Given the description of an element on the screen output the (x, y) to click on. 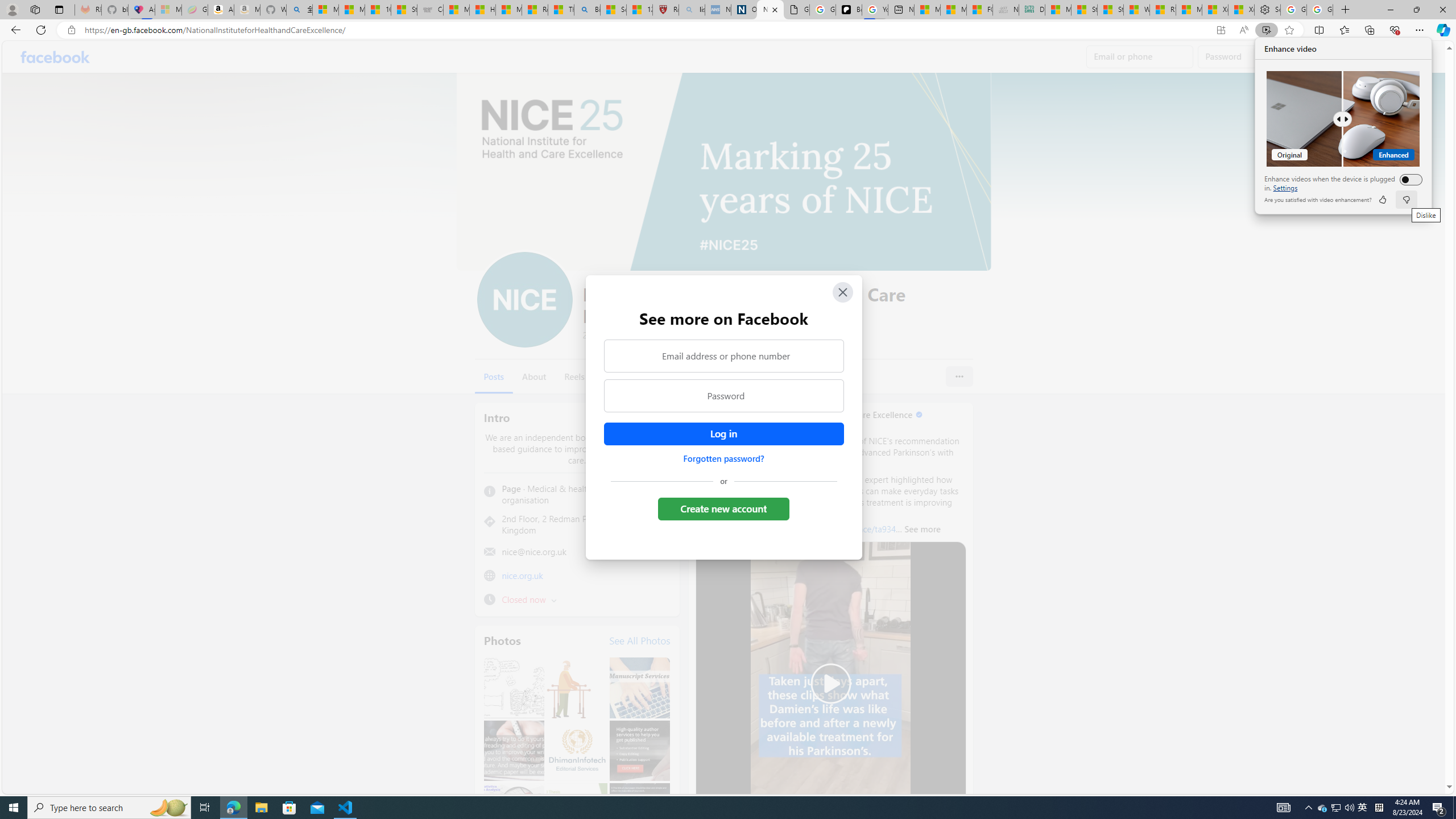
R******* | Trusted Community Engagement and Contributions (1162, 9)
Enhance videos (1407, 179)
like (1382, 199)
